Given the description of an element on the screen output the (x, y) to click on. 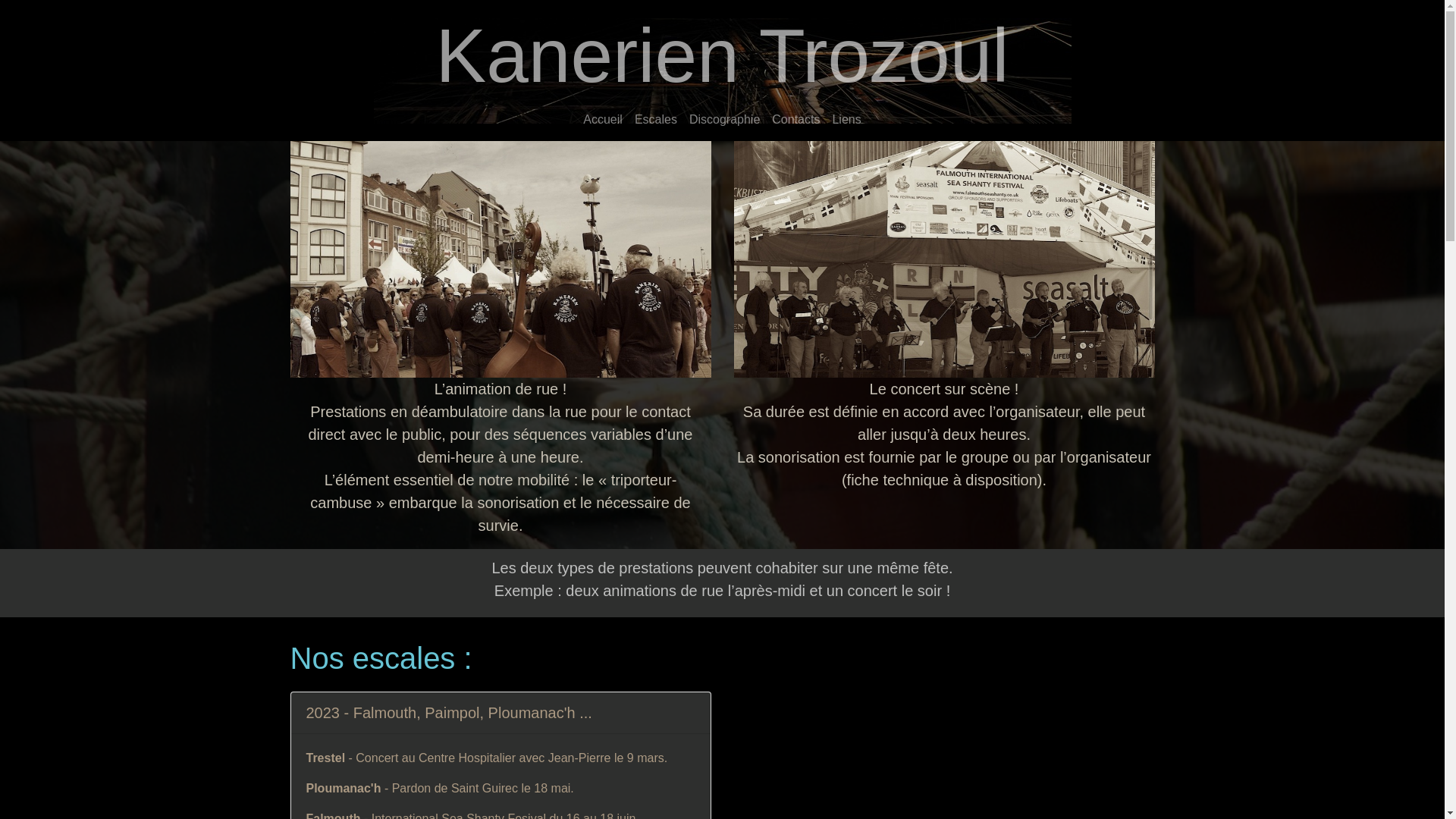
Accueil Element type: text (602, 119)
Liens Element type: text (845, 119)
Escales Element type: text (655, 119)
Contacts Element type: text (795, 119)
Kanerien Trozoul Element type: text (721, 55)
Discographie Element type: text (724, 119)
2023 - Falmouth, Paimpol, Ploumanac'h ... Element type: text (449, 712)
